Given the description of an element on the screen output the (x, y) to click on. 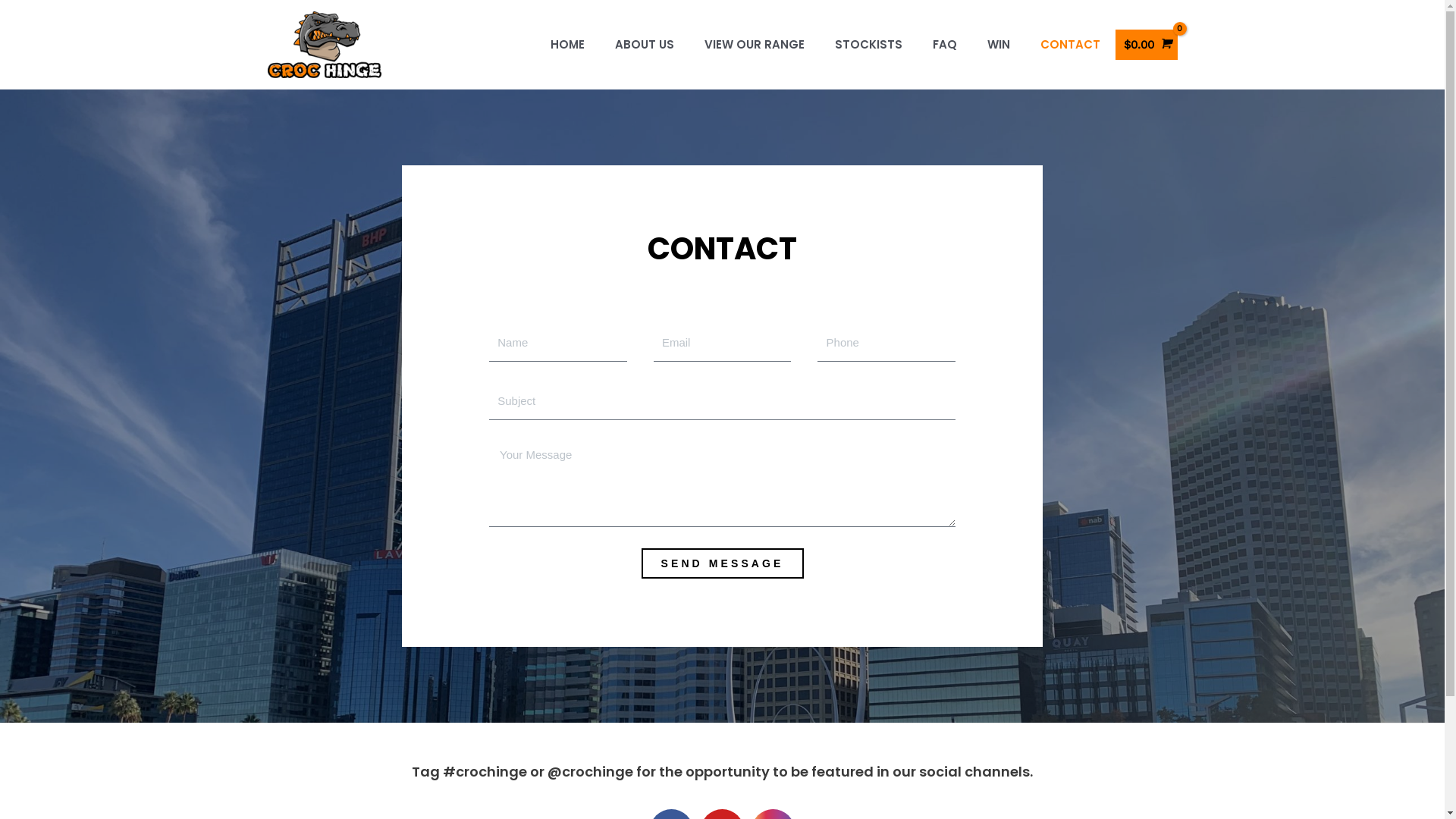
ABOUT US Element type: text (643, 44)
SEND MESSAGE Element type: text (722, 563)
VIEW OUR RANGE Element type: text (753, 44)
FAQ Element type: text (944, 44)
$0.00 Element type: text (1145, 44)
CONTACT Element type: text (1070, 44)
HOME Element type: text (567, 44)
STOCKISTS Element type: text (867, 44)
WIN Element type: text (998, 44)
